Given the description of an element on the screen output the (x, y) to click on. 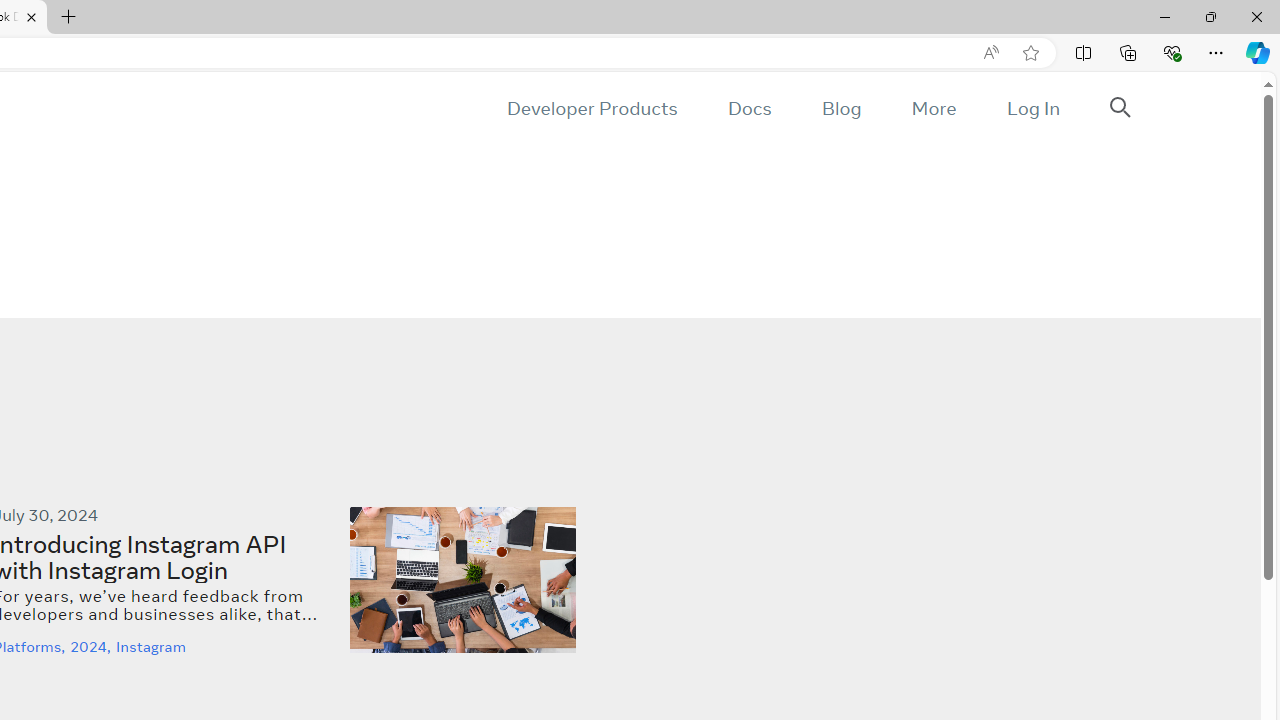
Docs (749, 108)
More (933, 108)
Log In (1032, 108)
Developer Products (591, 108)
More (933, 108)
Log In (1032, 108)
Blog (841, 108)
Blog (841, 108)
2024, (93, 646)
